Given the description of an element on the screen output the (x, y) to click on. 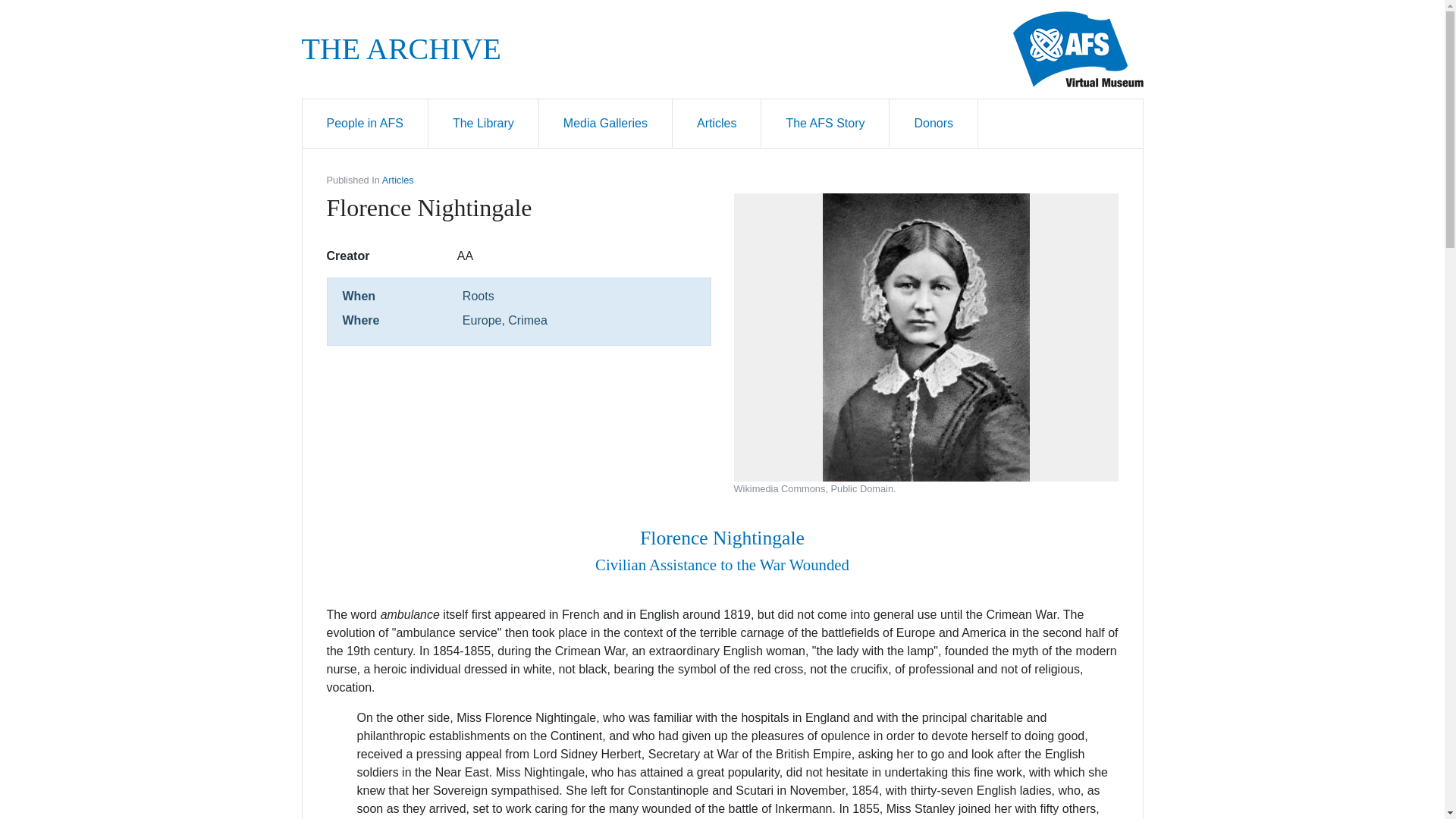
THE ARCHIVE (400, 49)
People in AFS (364, 123)
People in AFS (364, 123)
Articles (397, 179)
The Library (483, 123)
The Library (483, 123)
The AFS Story (825, 123)
Articles (716, 123)
The AFS Story (825, 123)
Media Galleries (605, 123)
